Given the description of an element on the screen output the (x, y) to click on. 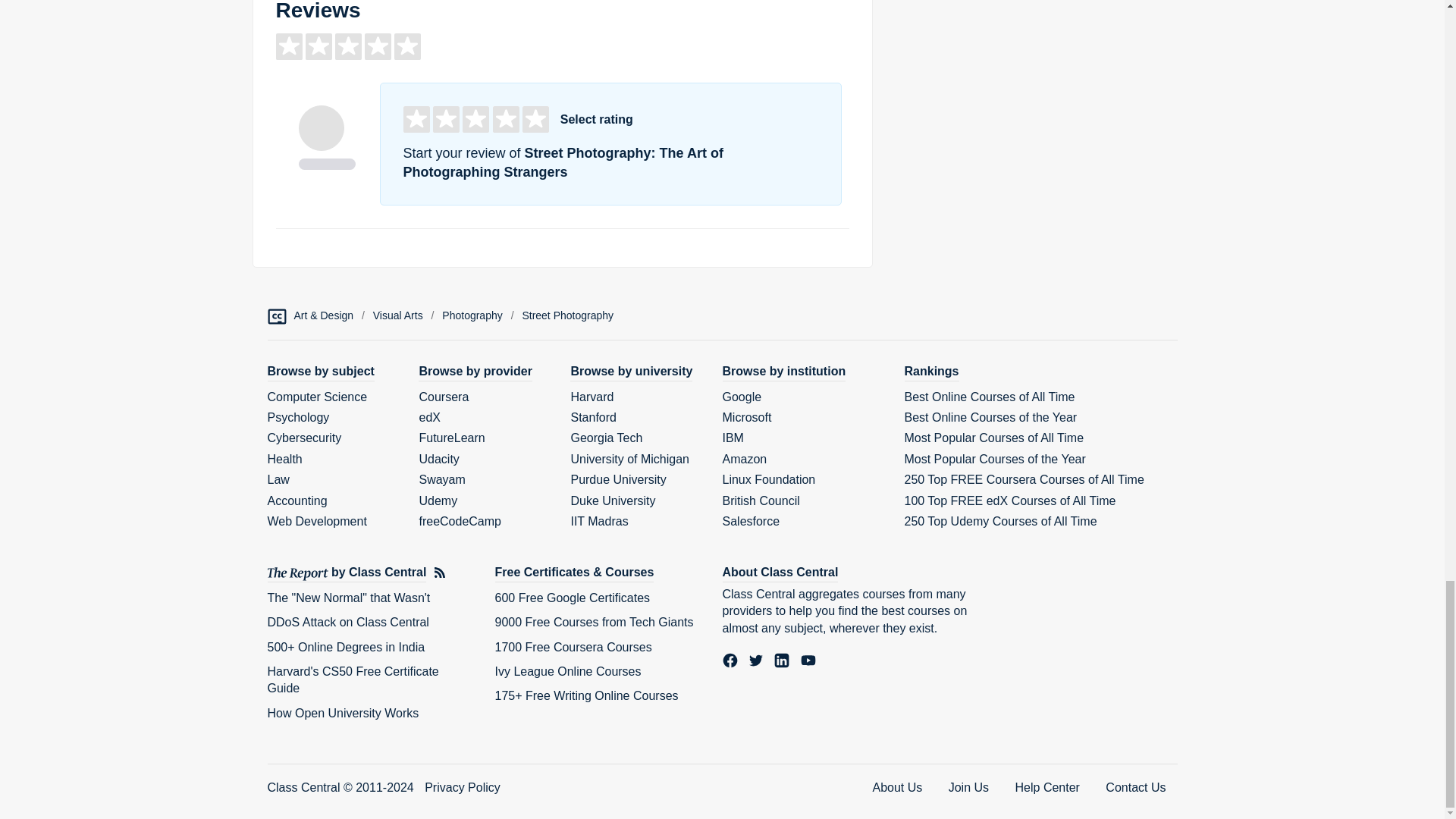
Harvard's CS50 Free Certificate Guide (352, 679)
How Open University Works (342, 712)
DDoS Attack on Class Central (347, 621)
1700 Free Coursera Courses (572, 646)
9000 Free Courses from Tech Giants (594, 621)
Ivy League Online Courses (567, 671)
600 Free Google Certificates (572, 597)
The "New Normal" that Wasn't (347, 597)
Free Courses and Certificates (574, 572)
